Given the description of an element on the screen output the (x, y) to click on. 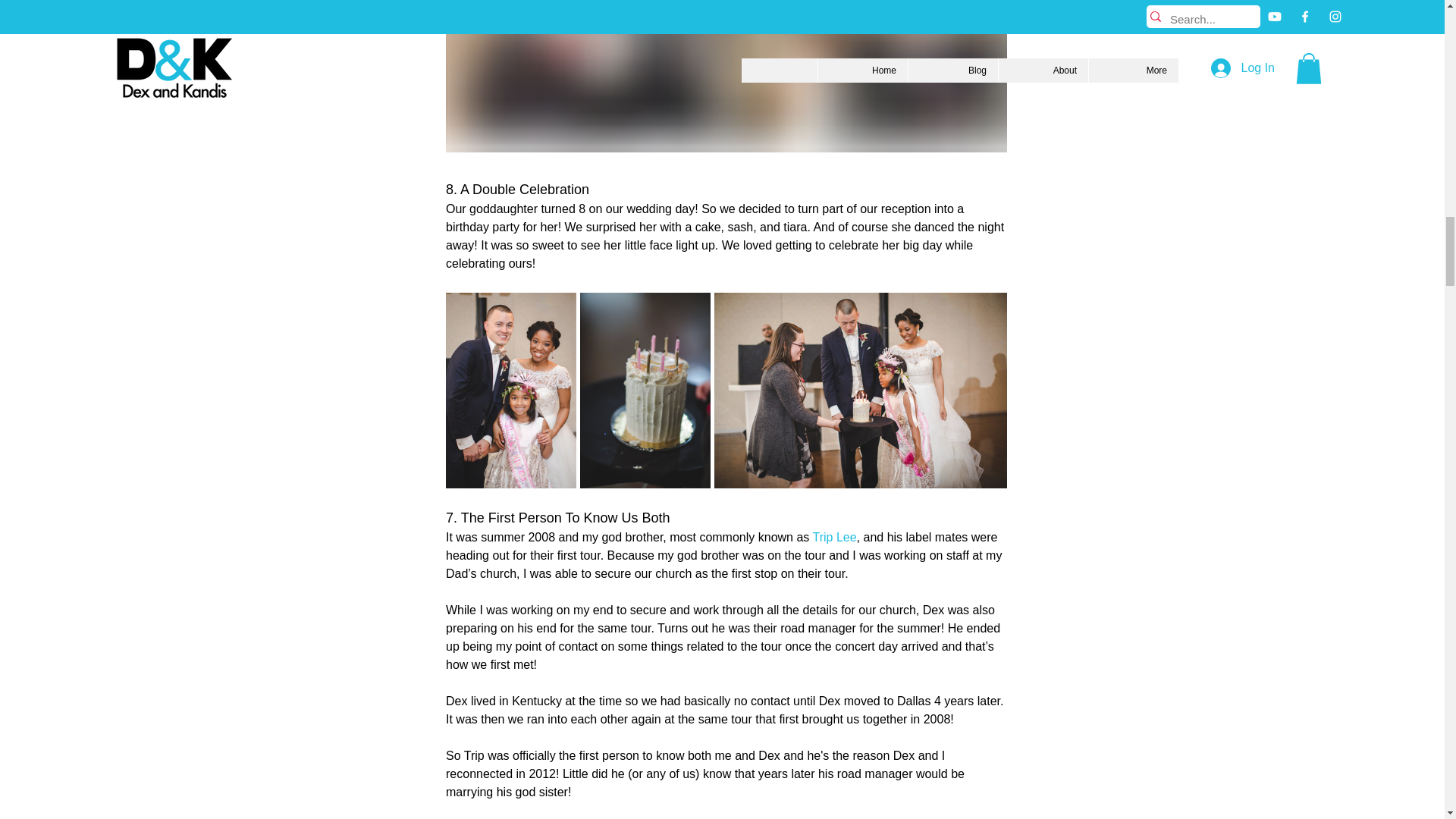
Trip Lee (834, 536)
